Given the description of an element on the screen output the (x, y) to click on. 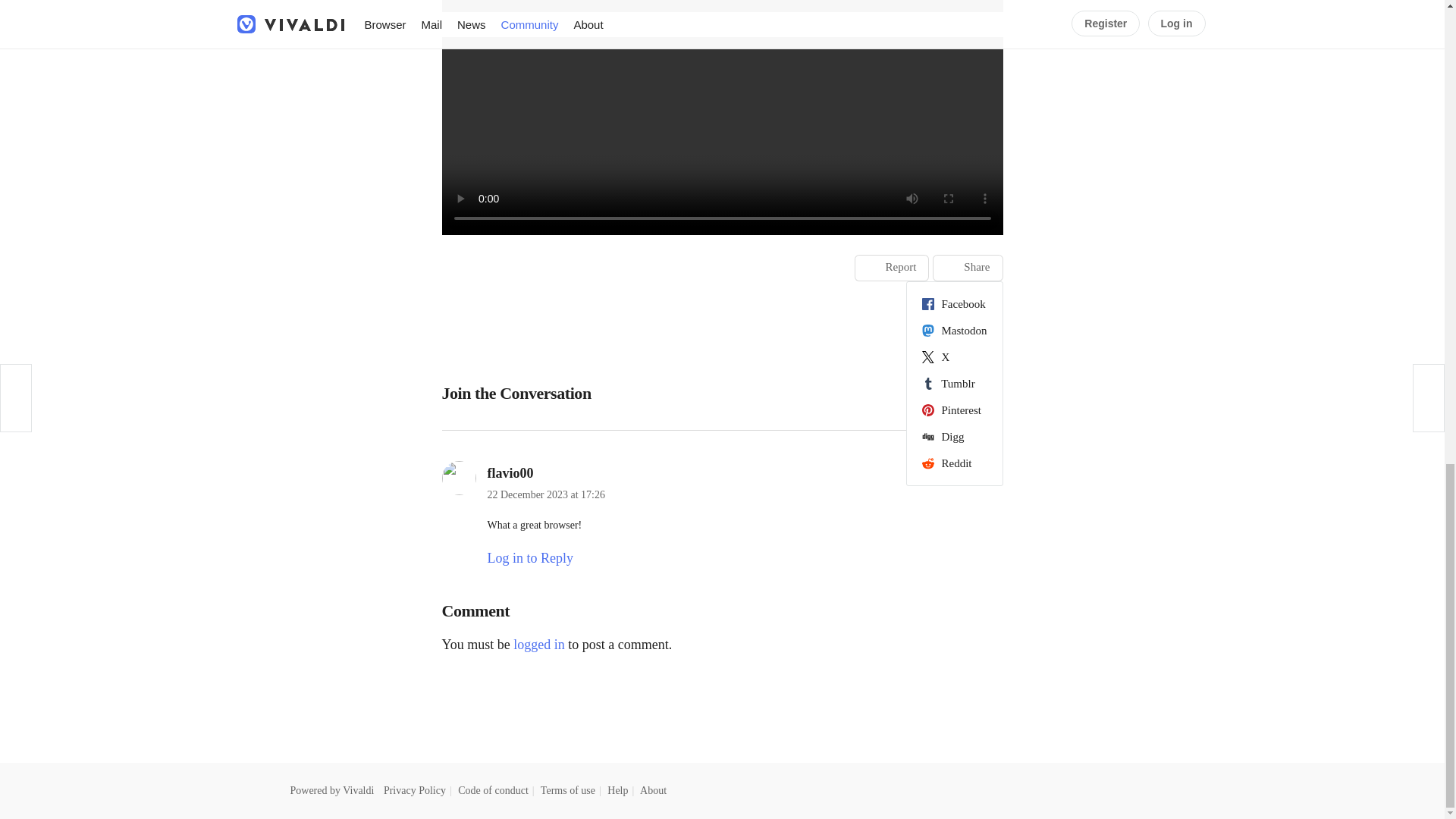
Mastodon (953, 330)
Privacy Policy (414, 790)
About (653, 790)
X (953, 356)
Share (968, 267)
Facebook (953, 303)
Report (892, 267)
22 December 2023 at 17:26 (545, 494)
Log in to Reply (529, 557)
Code of conduct (493, 790)
